Given the description of an element on the screen output the (x, y) to click on. 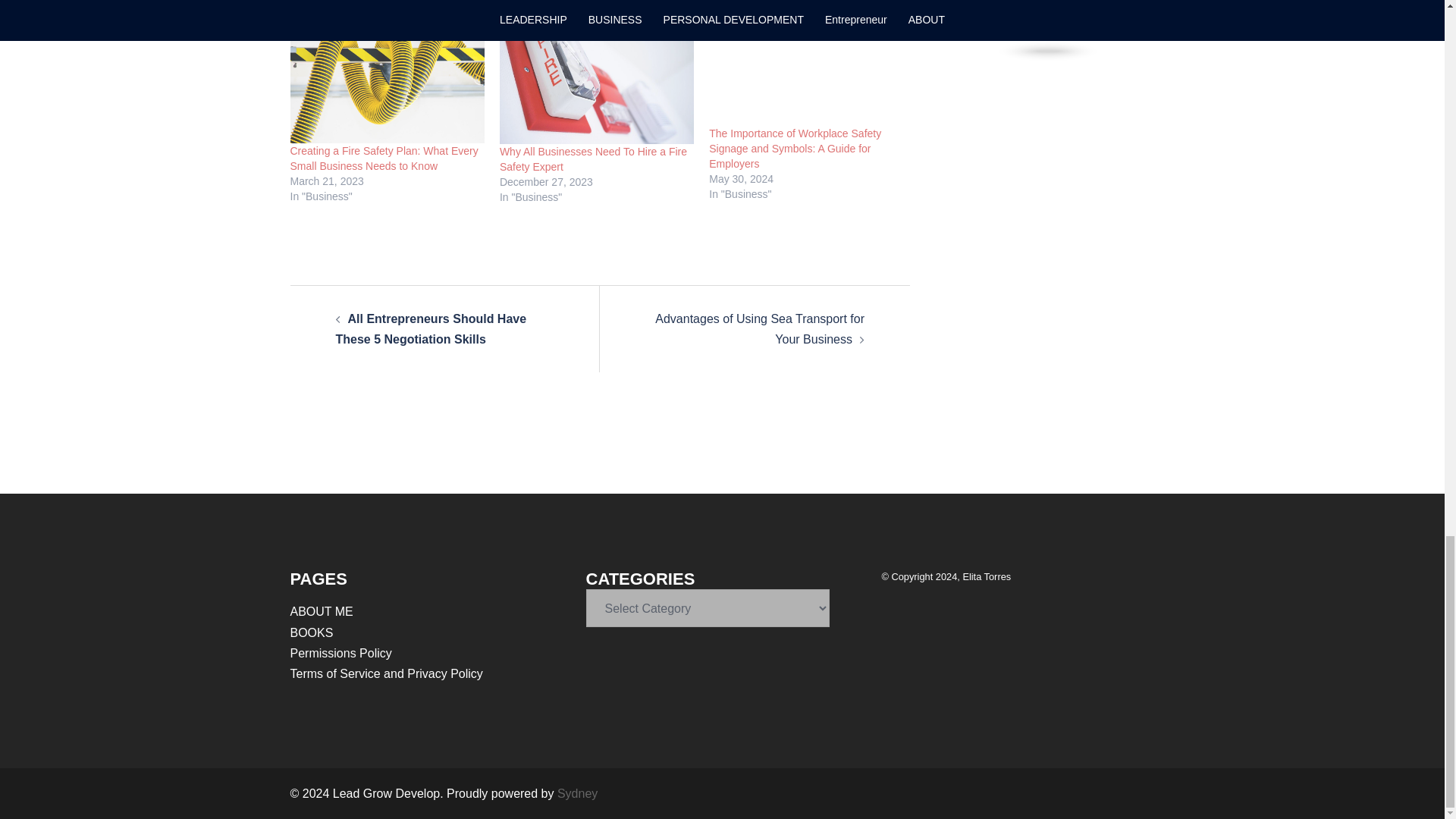
Advantages of Using Sea Transport for Your Business (759, 328)
All Entrepreneurs Should Have These 5 Negotiation Skills (429, 328)
Why All Businesses Need To Hire a Fire Safety Expert (593, 158)
Why All Businesses Need To Hire a Fire Safety Expert (596, 79)
Why All Businesses Need To Hire a Fire Safety Expert (593, 158)
